Given the description of an element on the screen output the (x, y) to click on. 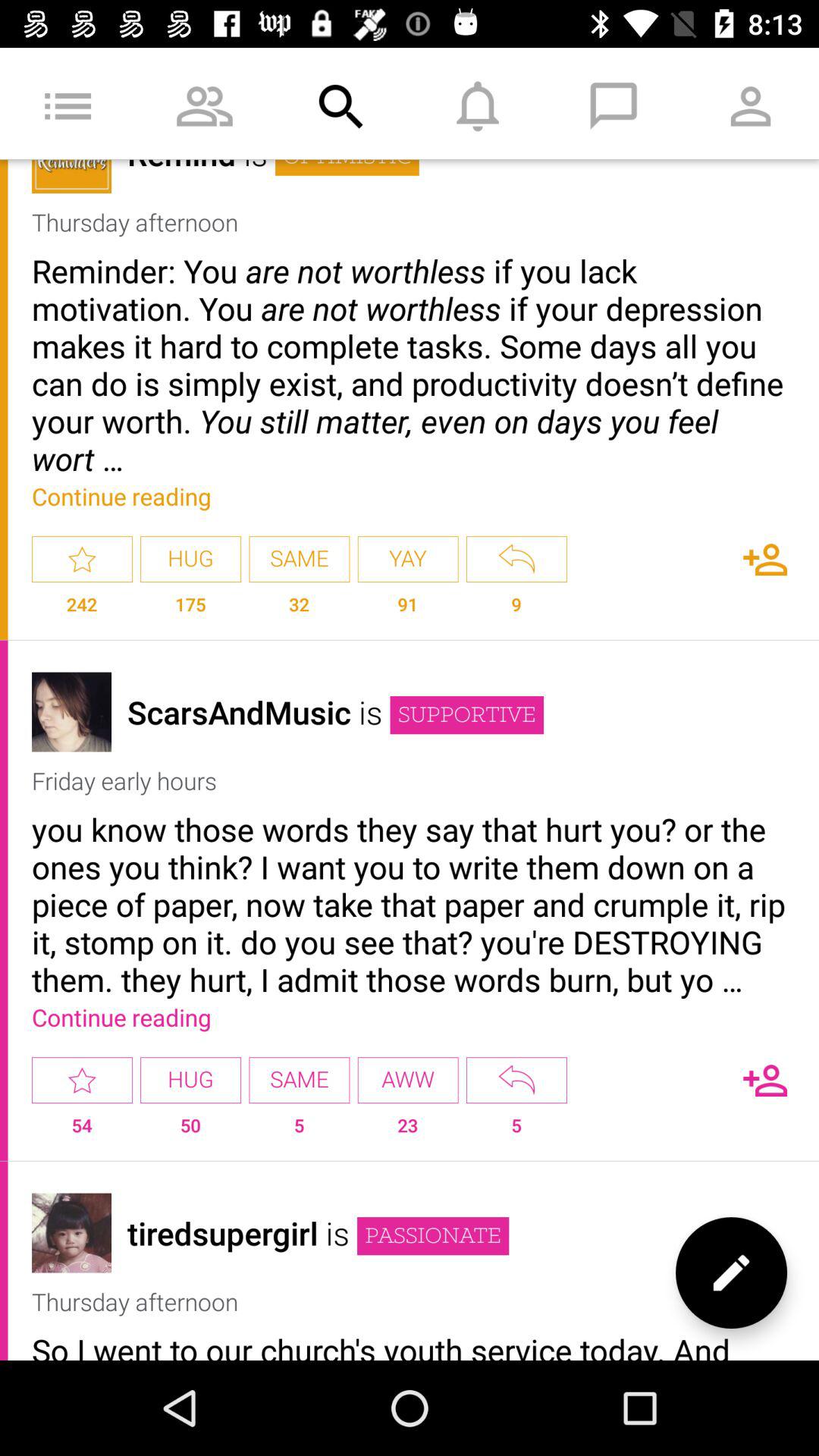
turn off icon to the right of passionate icon (731, 1272)
